Given the description of an element on the screen output the (x, y) to click on. 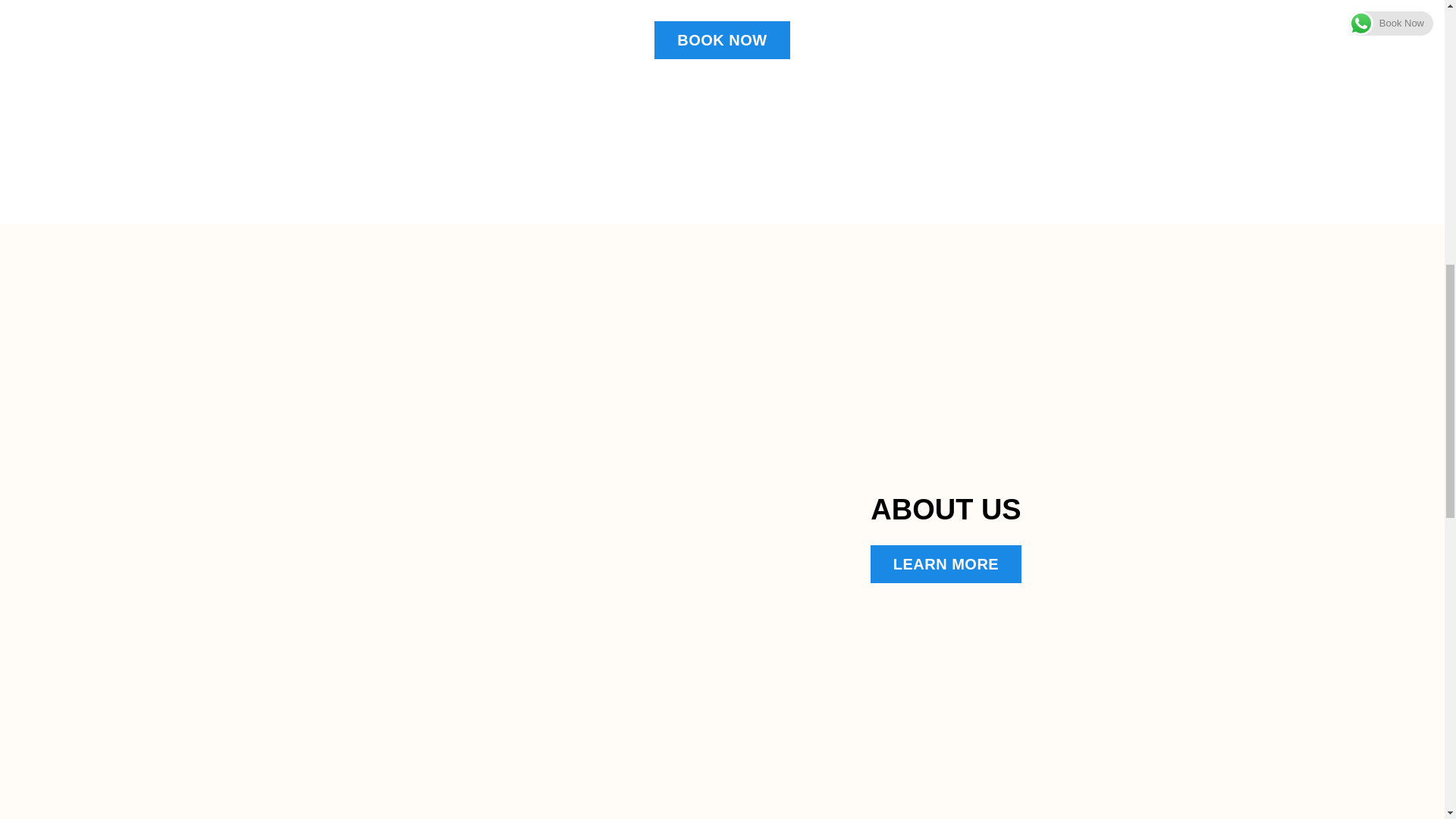
FULLY EQUIPPED SELF CATERING ACCOMMODATION UNITS. (406, 21)
WE CAN'T WAIT TO HEAR FROM YOU. (966, 14)
LEARN MORE (946, 564)
BOOK NOW (721, 39)
